Given the description of an element on the screen output the (x, y) to click on. 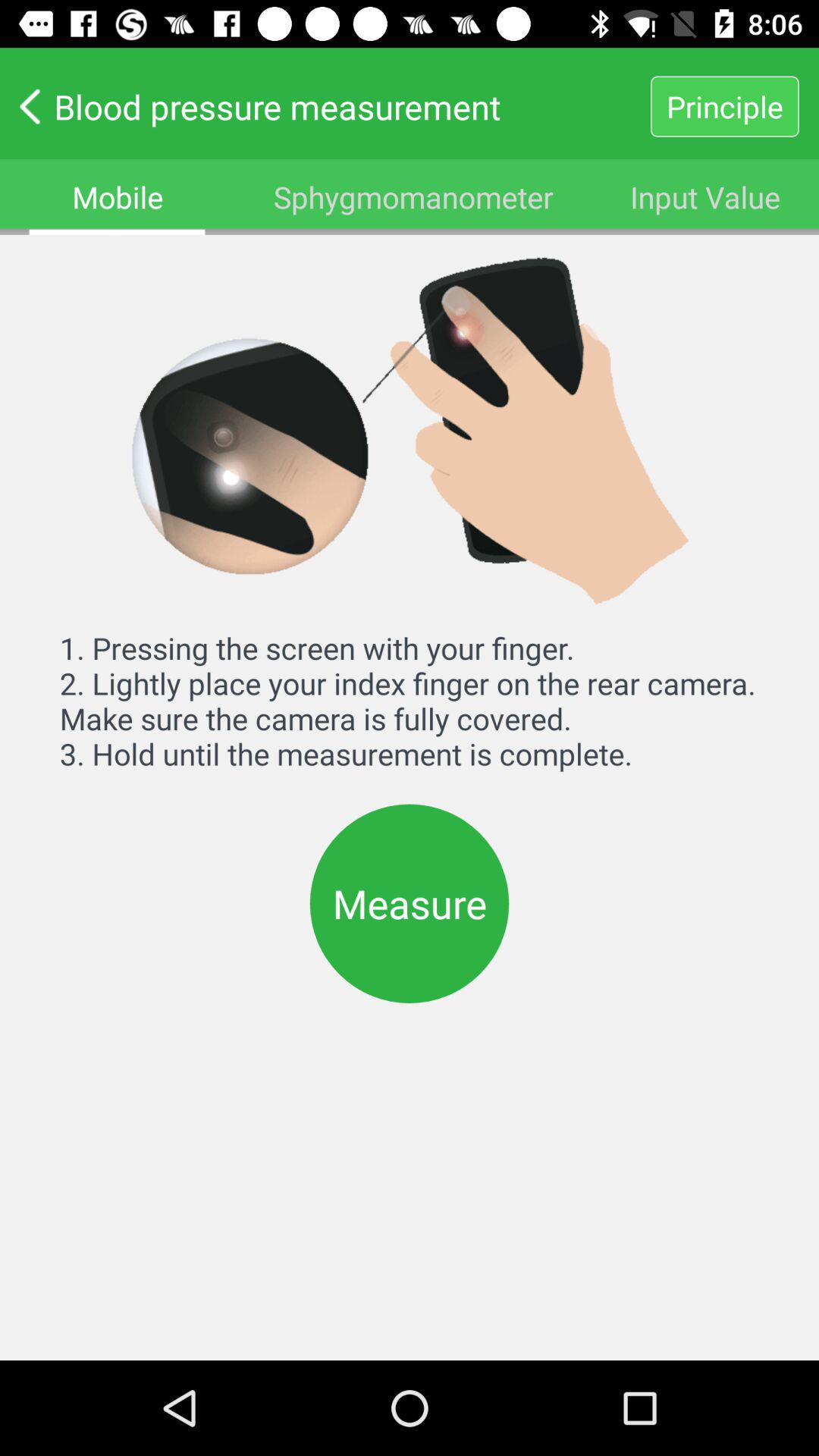
choose mobile item (117, 196)
